Given the description of an element on the screen output the (x, y) to click on. 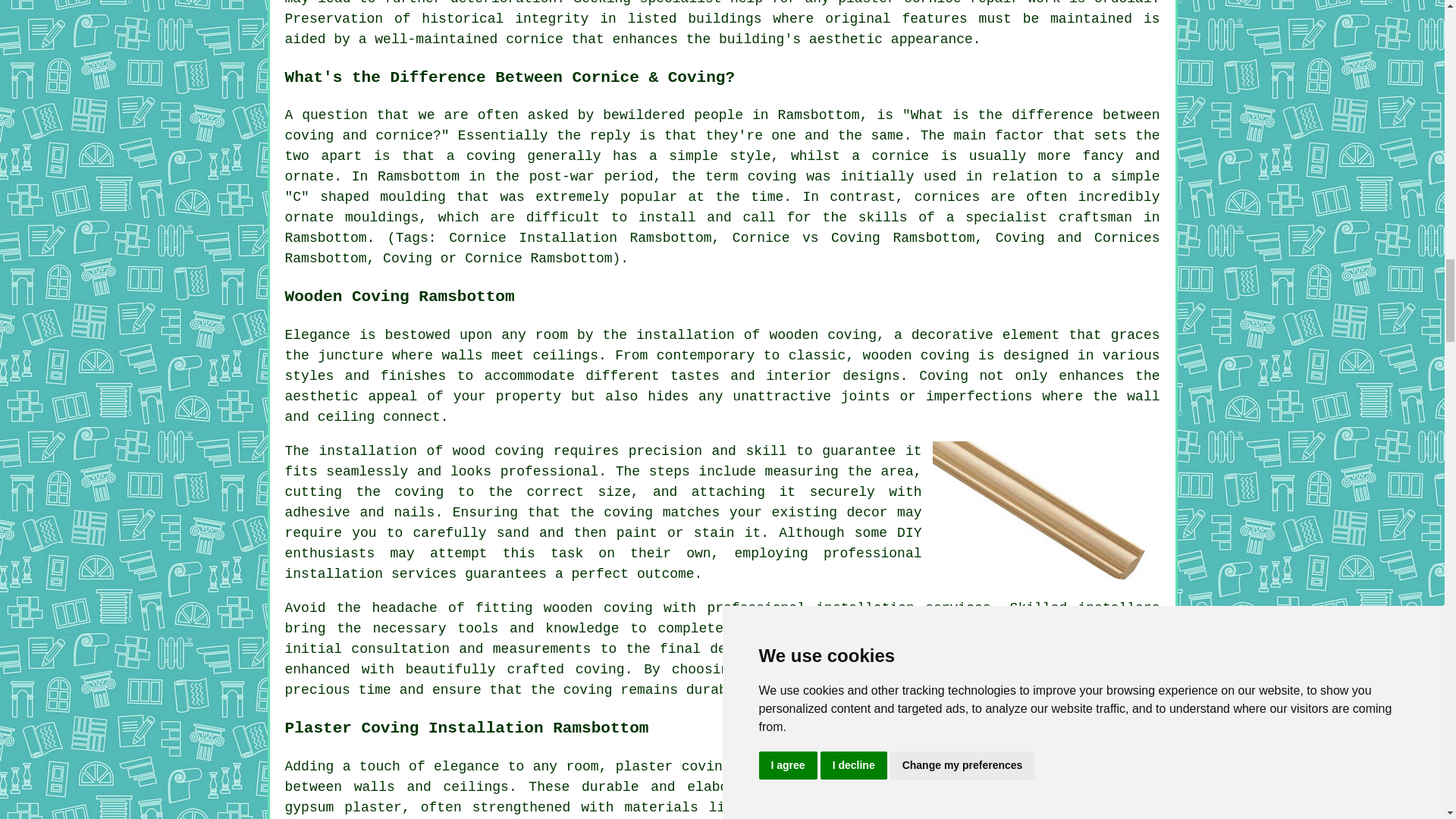
coving (628, 607)
plaster cornice repair (928, 2)
wooden coving (822, 335)
Wooden Coving Ramsbottom (1046, 515)
